Given the description of an element on the screen output the (x, y) to click on. 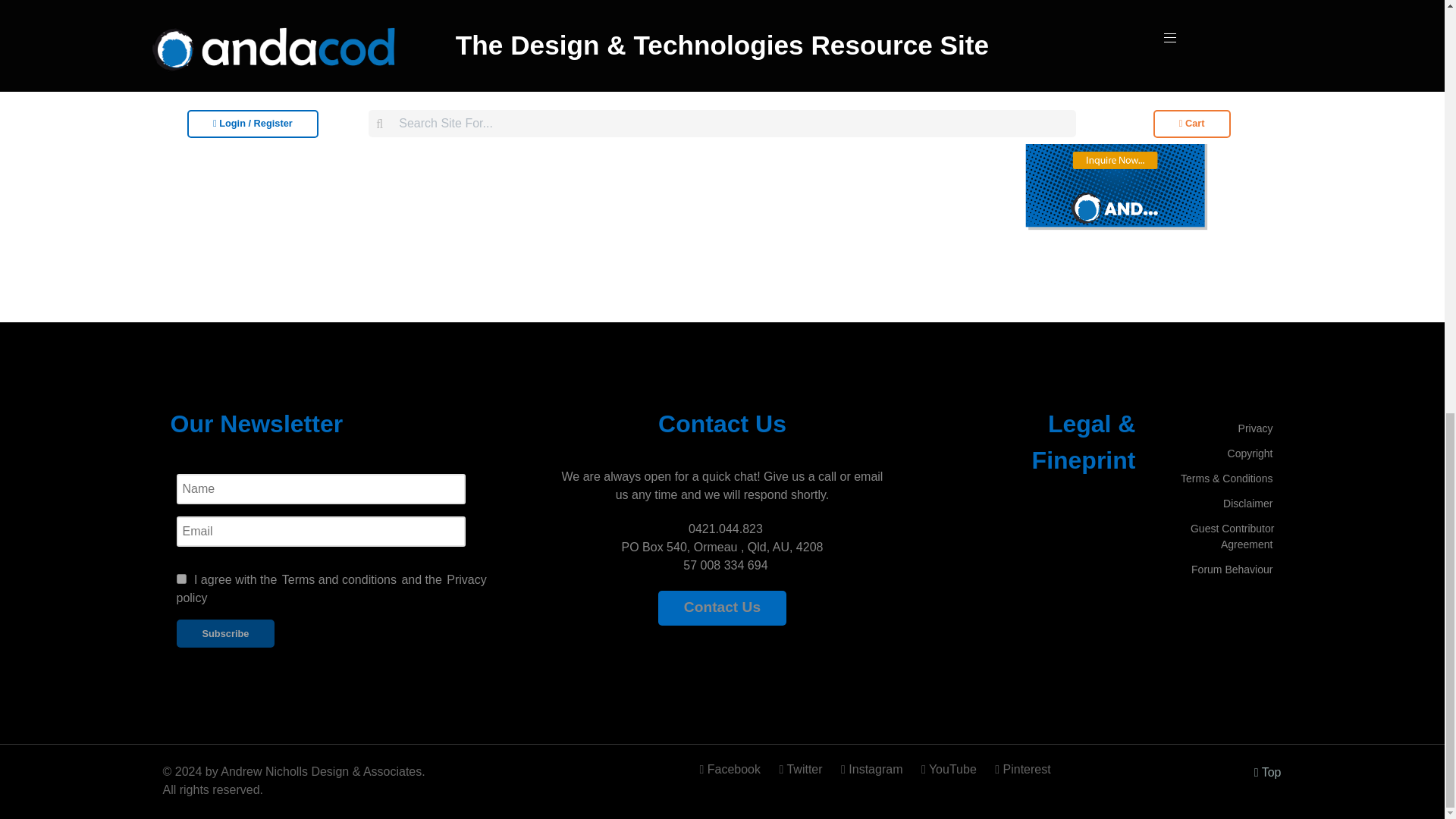
Privacy (1255, 427)
Twitter (801, 768)
Instagram (873, 768)
anda safety consultancy (1116, 138)
Pinterest (1018, 768)
Disclaimer (1247, 503)
Forum Behaviour (1231, 569)
YouTube (950, 768)
on (181, 578)
Guest Contributor Agreement (1232, 536)
